Given the description of an element on the screen output the (x, y) to click on. 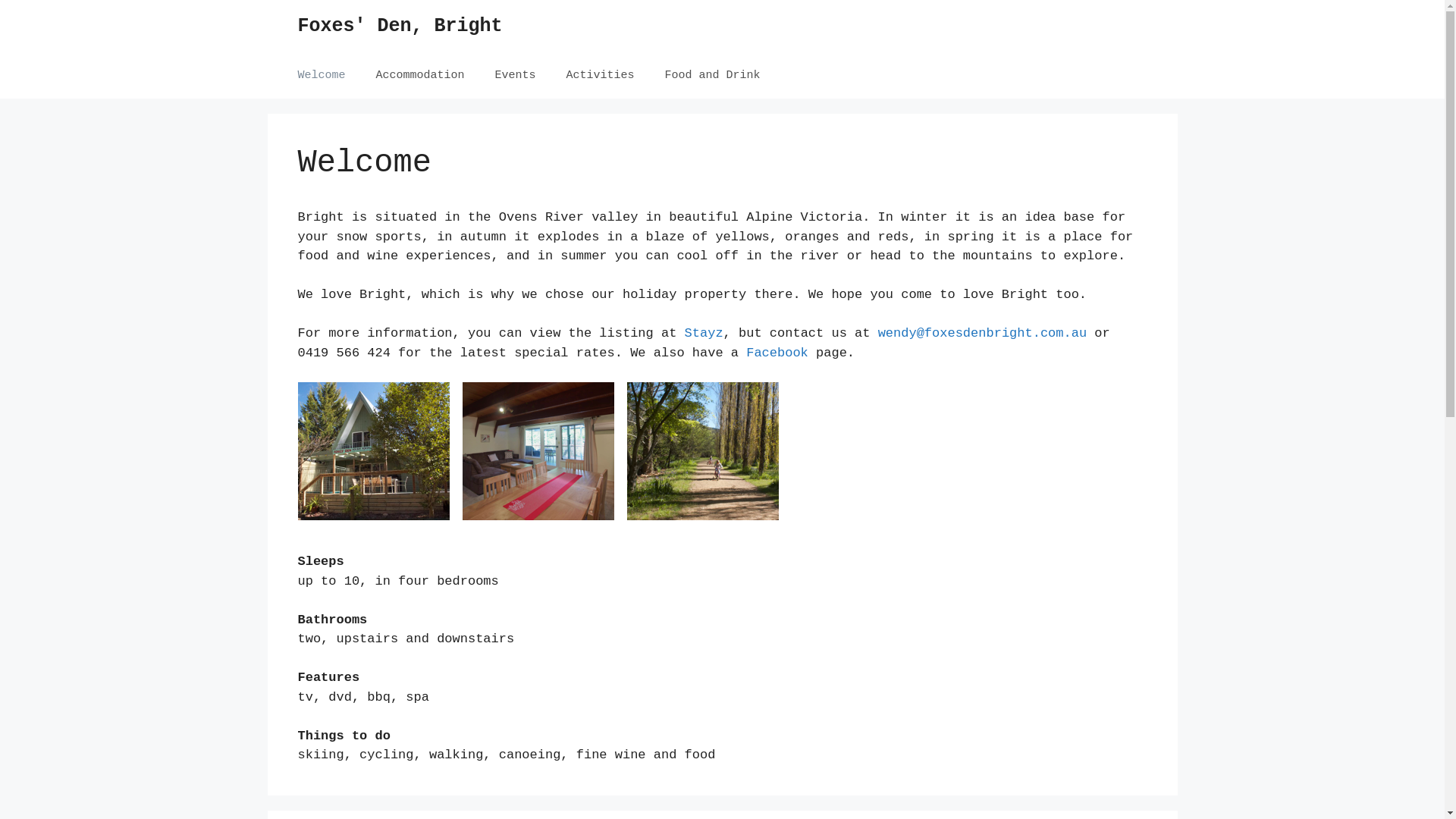
Stayz Element type: text (703, 333)
Welcome Element type: text (321, 75)
Accommodation Element type: text (420, 75)
Activities Element type: text (600, 75)
Events Element type: text (515, 75)
wendy@foxesdenbright.com.au Element type: text (982, 333)
Food and Drink Element type: text (712, 75)
Facebook Element type: text (777, 352)
Foxes' Den, Bright Element type: text (399, 26)
